Given the description of an element on the screen output the (x, y) to click on. 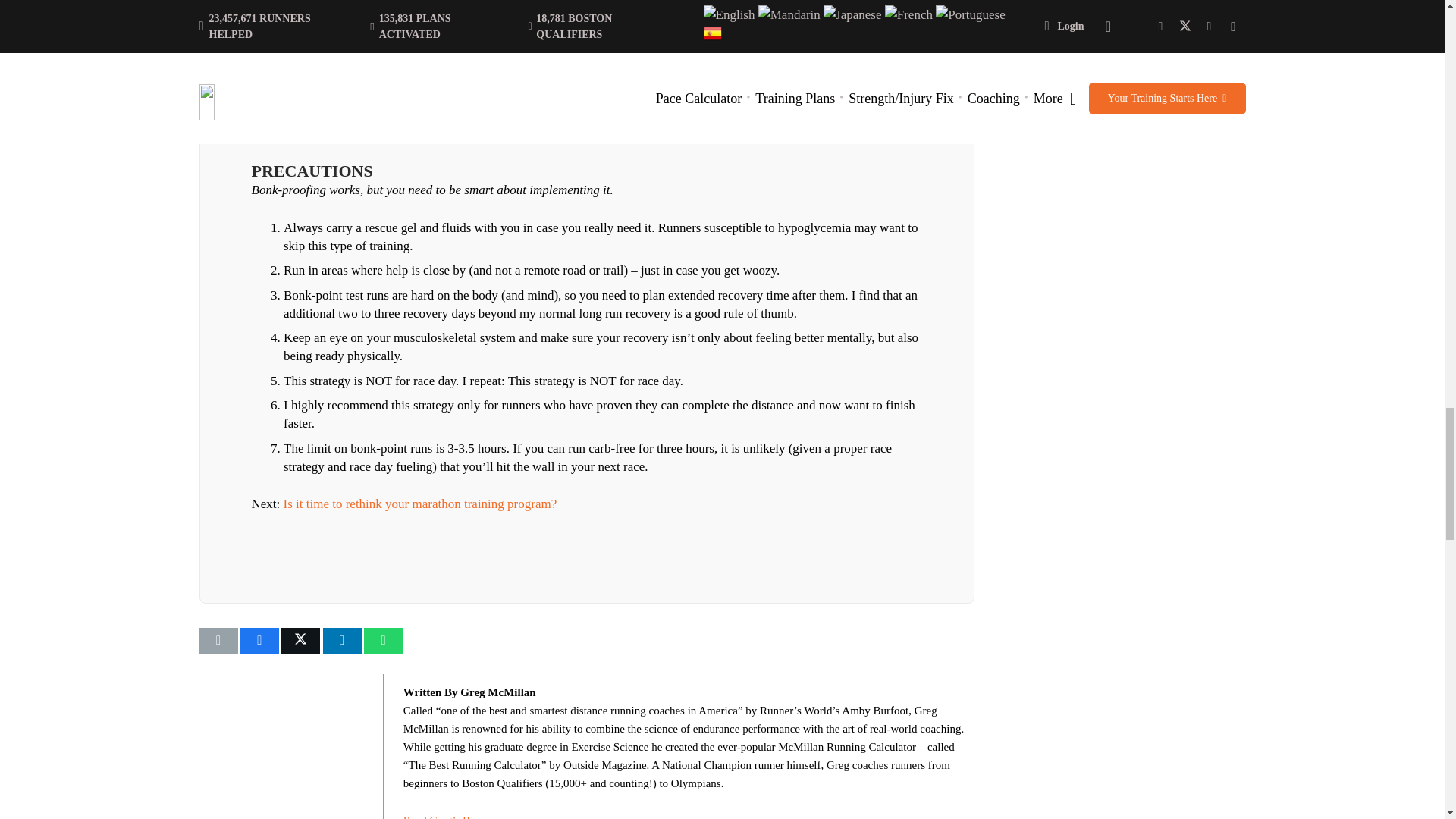
long, easy runs (649, 76)
Email this (217, 640)
Tweet this (300, 640)
Share this (259, 640)
